Given the description of an element on the screen output the (x, y) to click on. 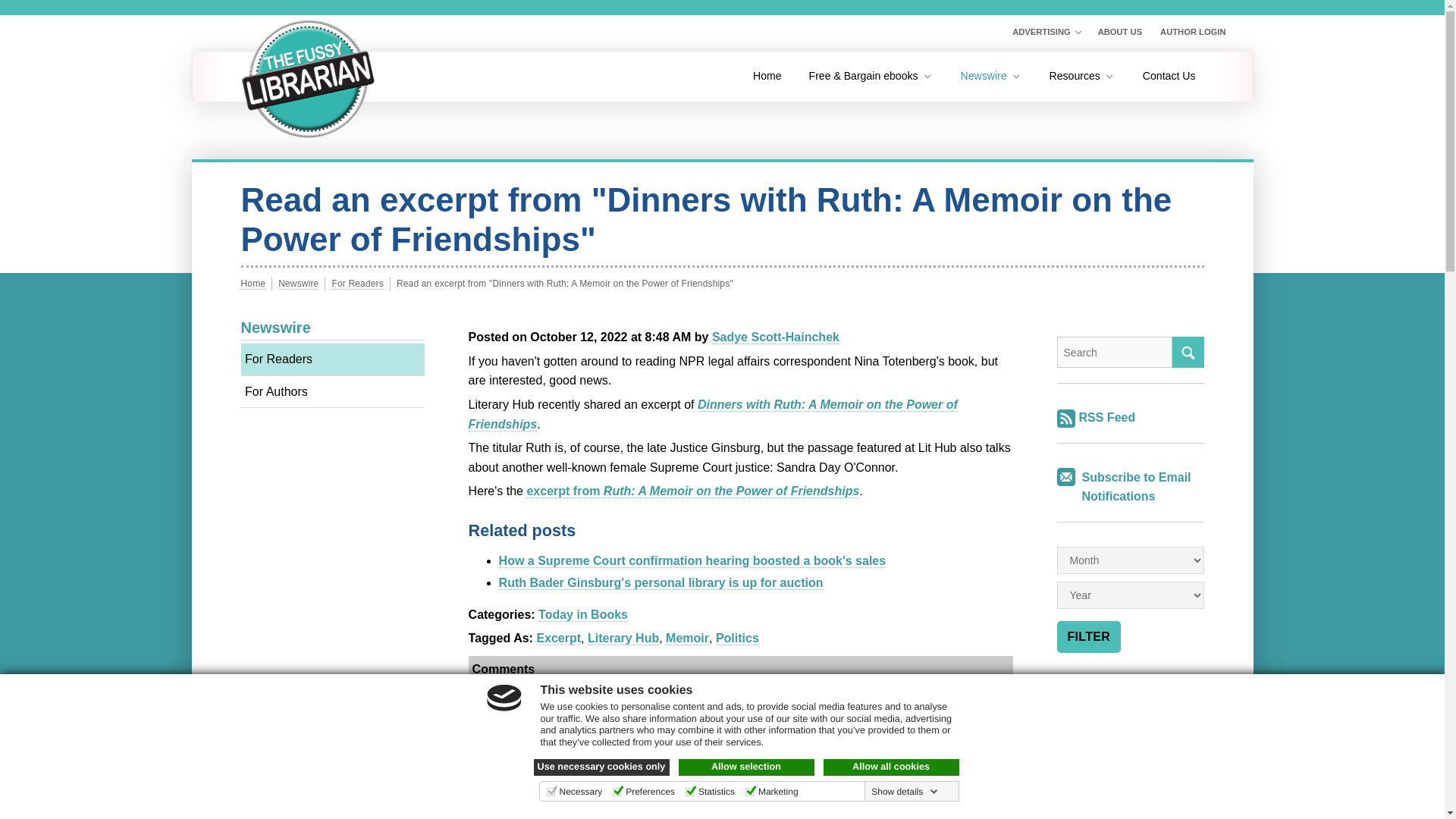
Allow all cookies (891, 767)
Show details (903, 791)
Allow selection (745, 767)
Use necessary cookies only (601, 767)
